Given the description of an element on the screen output the (x, y) to click on. 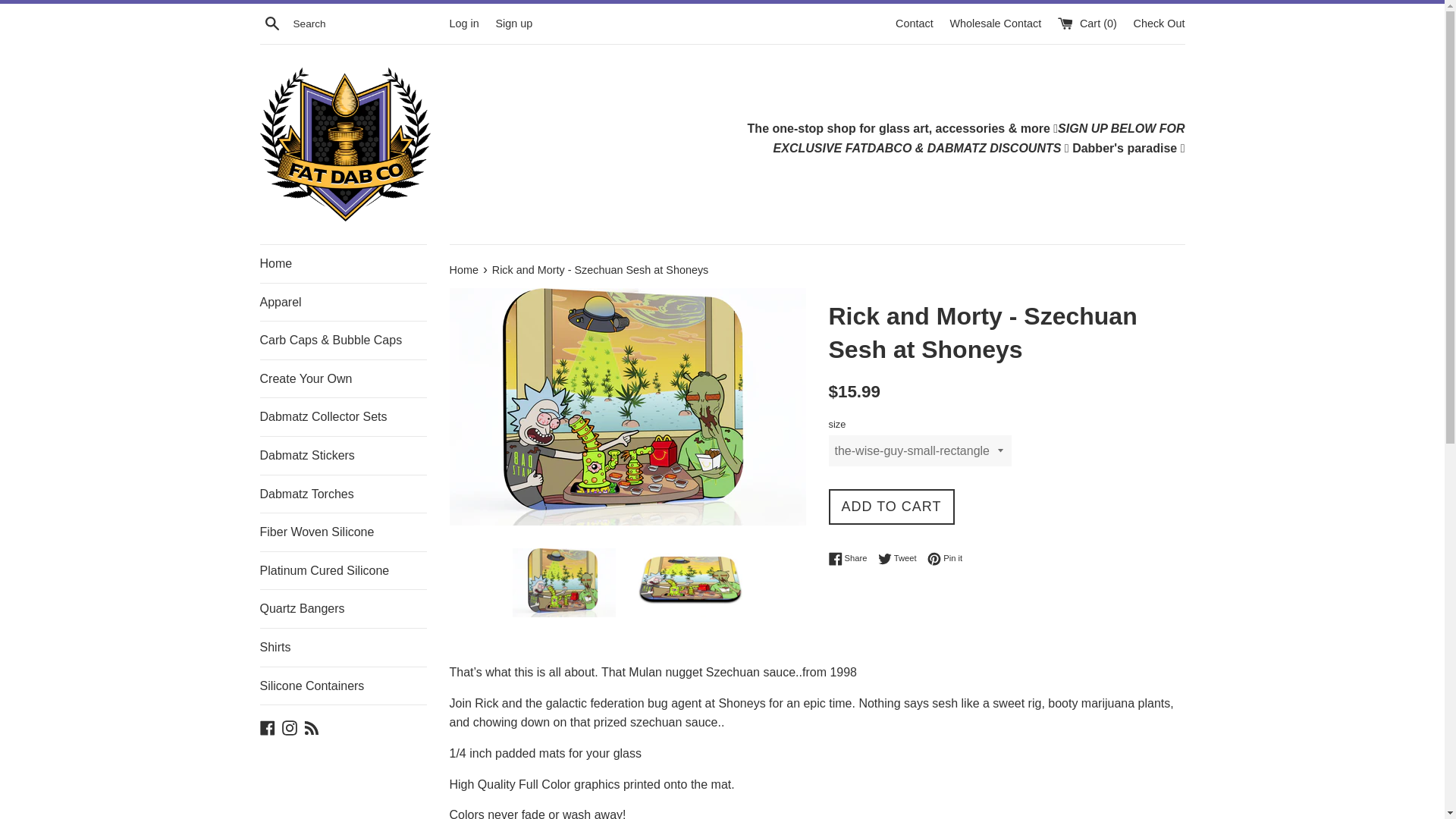
Share on Facebook (851, 558)
Tweet on Twitter (900, 558)
Search (271, 23)
Wholesale Contact (996, 22)
Apparel (342, 302)
Dabmatz Torches (342, 494)
Log in (463, 22)
Dabmatz Stickers (342, 455)
Blog (311, 726)
Platinum Cured Silicone (342, 570)
Sign up (513, 22)
Create Your Own (900, 558)
Fiber Woven Silicone (944, 558)
